Given the description of an element on the screen output the (x, y) to click on. 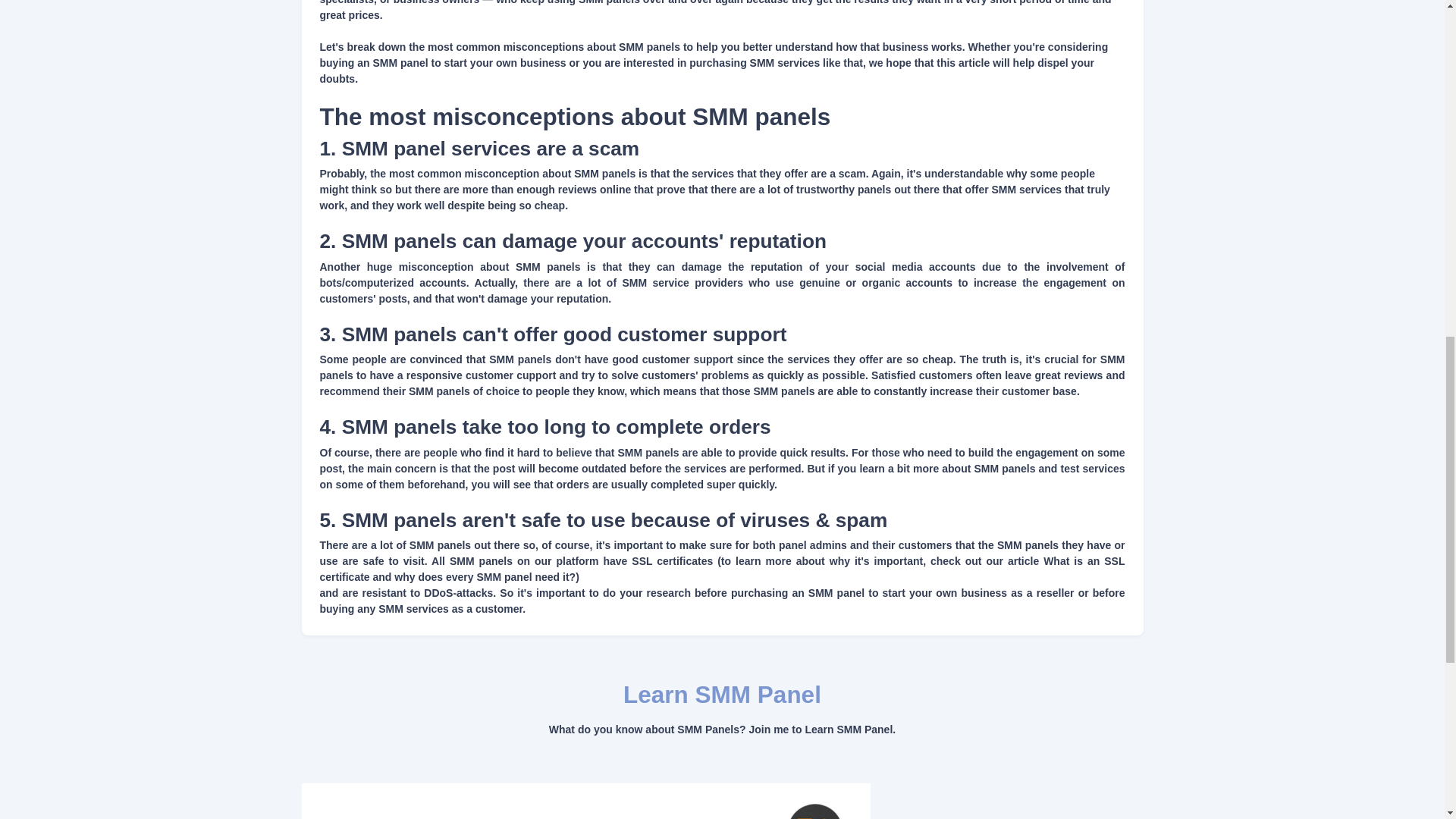
Learn SMM Panel (722, 694)
Common misconceptions about SMM panels (585, 800)
